Given the description of an element on the screen output the (x, y) to click on. 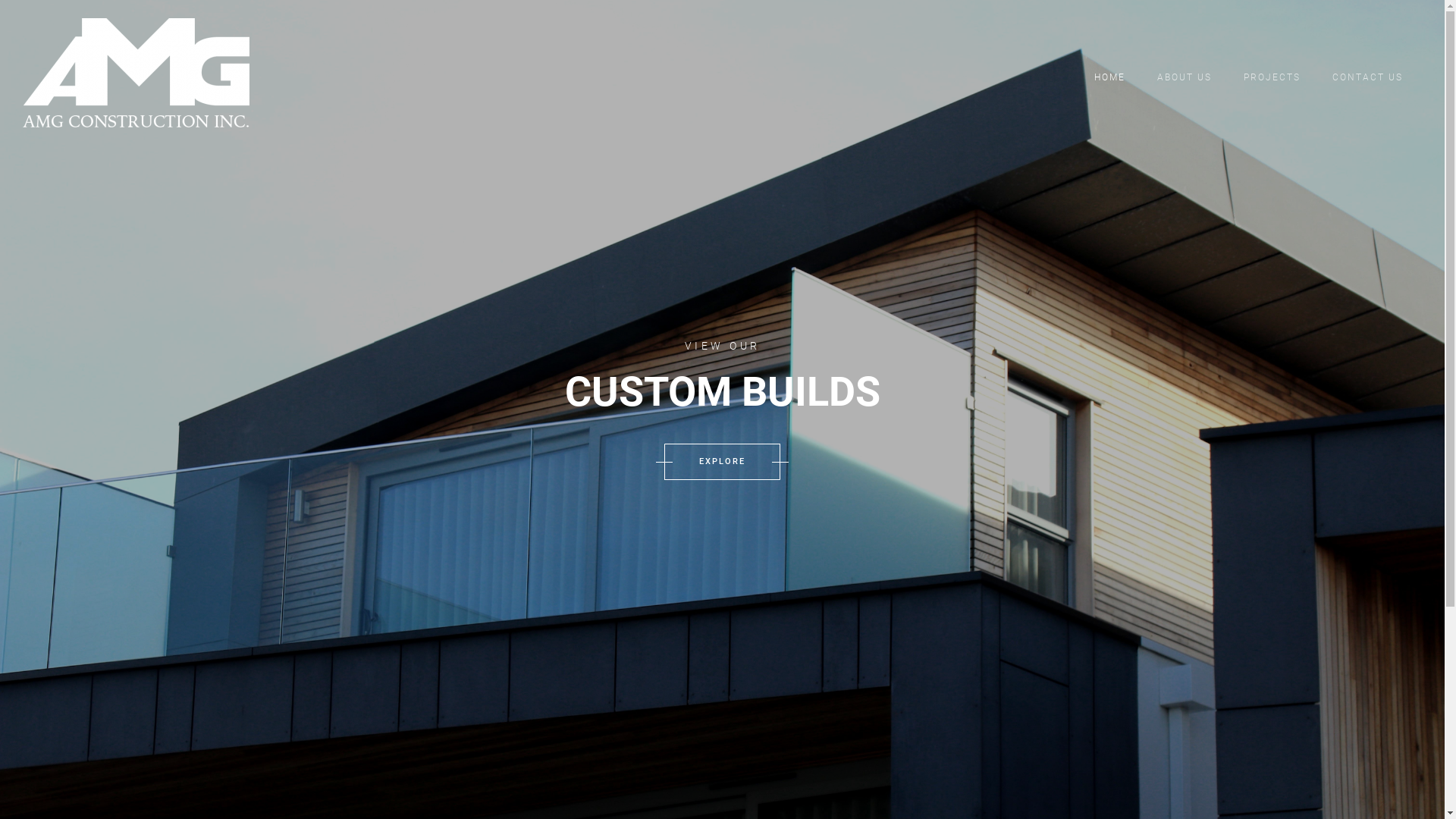
CONTACT US Element type: text (1367, 76)
HOME Element type: text (1109, 76)
PROJECTS Element type: text (1271, 76)
EXPLORE Element type: text (722, 461)
ABOUT US Element type: text (1184, 76)
